Given the description of an element on the screen output the (x, y) to click on. 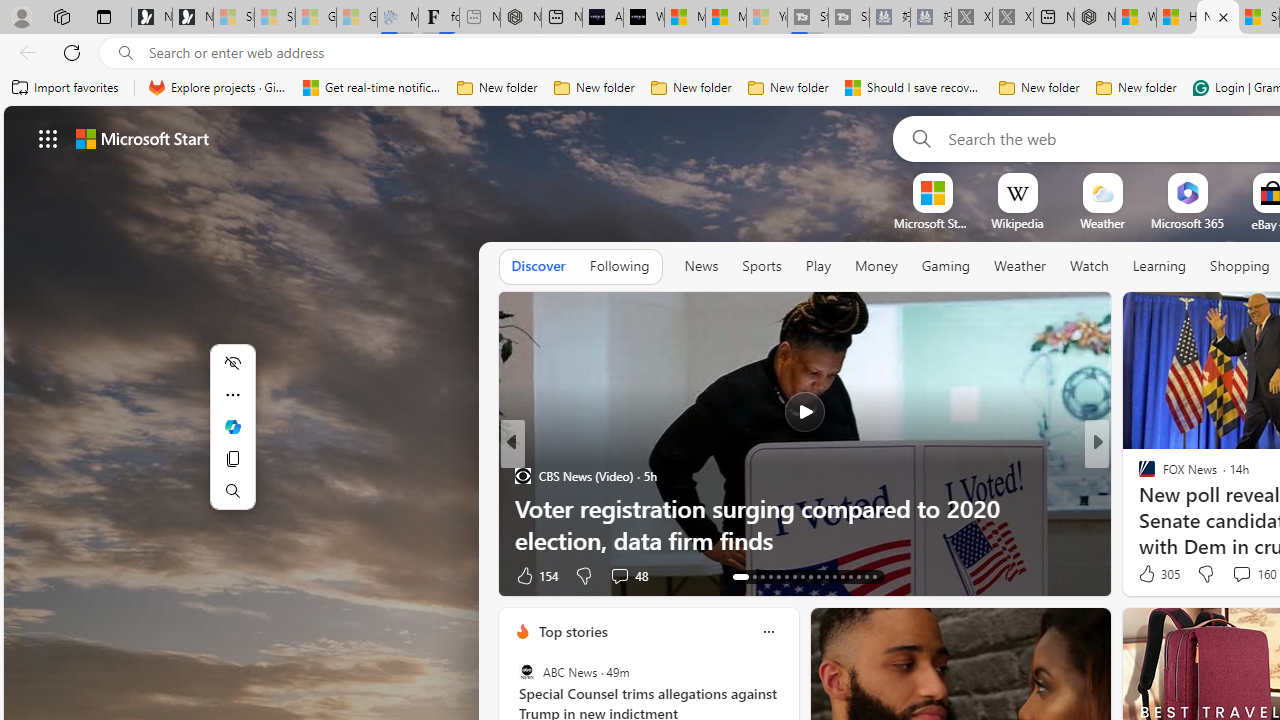
AutomationID: waffle (47, 138)
124 Like (1151, 574)
Nordace - #1 Japanese Best-Seller - Siena Smart Backpack (520, 17)
Nordace (1153, 475)
Only Earthlings (522, 507)
New folder (1136, 88)
Tab actions menu (104, 16)
Tom's Guide (1138, 507)
AutomationID: tab-16 (769, 576)
Huge shark washes ashore at New York City beach | Watch (1176, 17)
AutomationID: tab-24 (833, 576)
AutomationID: tab-19 (793, 576)
Import favorites (65, 88)
AI Voice Changer for PC and Mac - Voice.ai (602, 17)
